Given the description of an element on the screen output the (x, y) to click on. 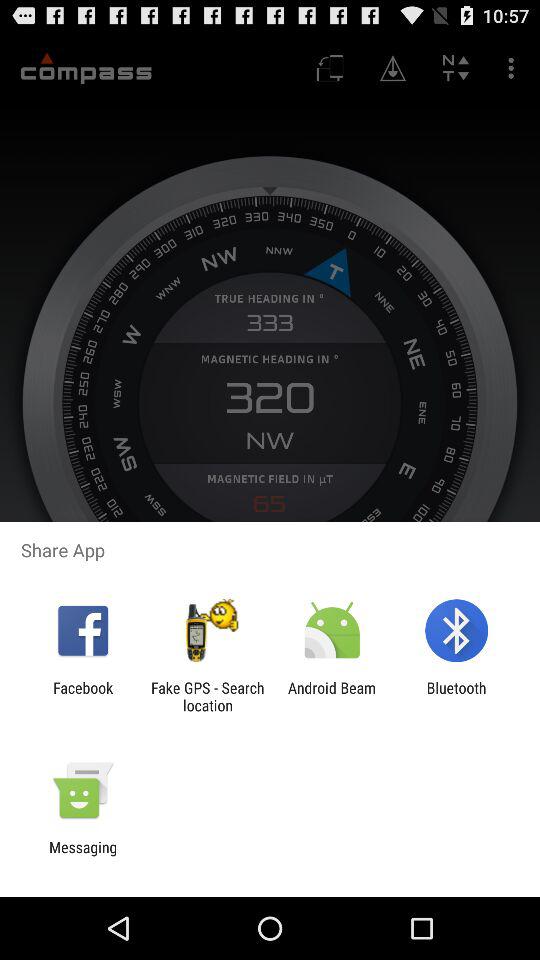
tap item to the left of the fake gps search icon (83, 696)
